Given the description of an element on the screen output the (x, y) to click on. 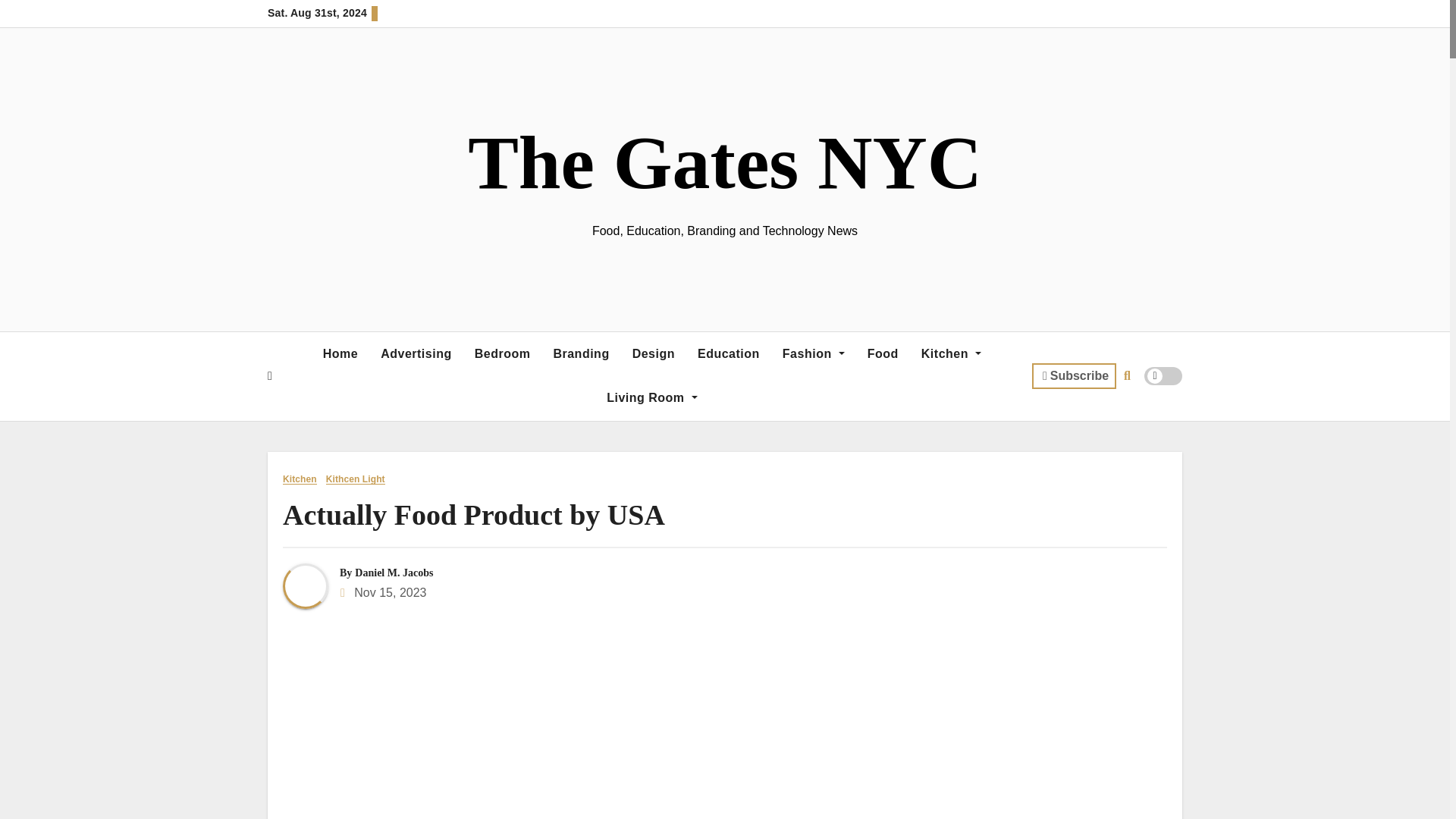
Kitchen (951, 353)
Bedroom (502, 353)
The Gates NYC (724, 162)
Home (340, 353)
Advertising (416, 353)
Kitchen (951, 353)
Education (728, 353)
Living Room (651, 397)
Branding (580, 353)
Kithcen Light (353, 479)
